Given the description of an element on the screen output the (x, y) to click on. 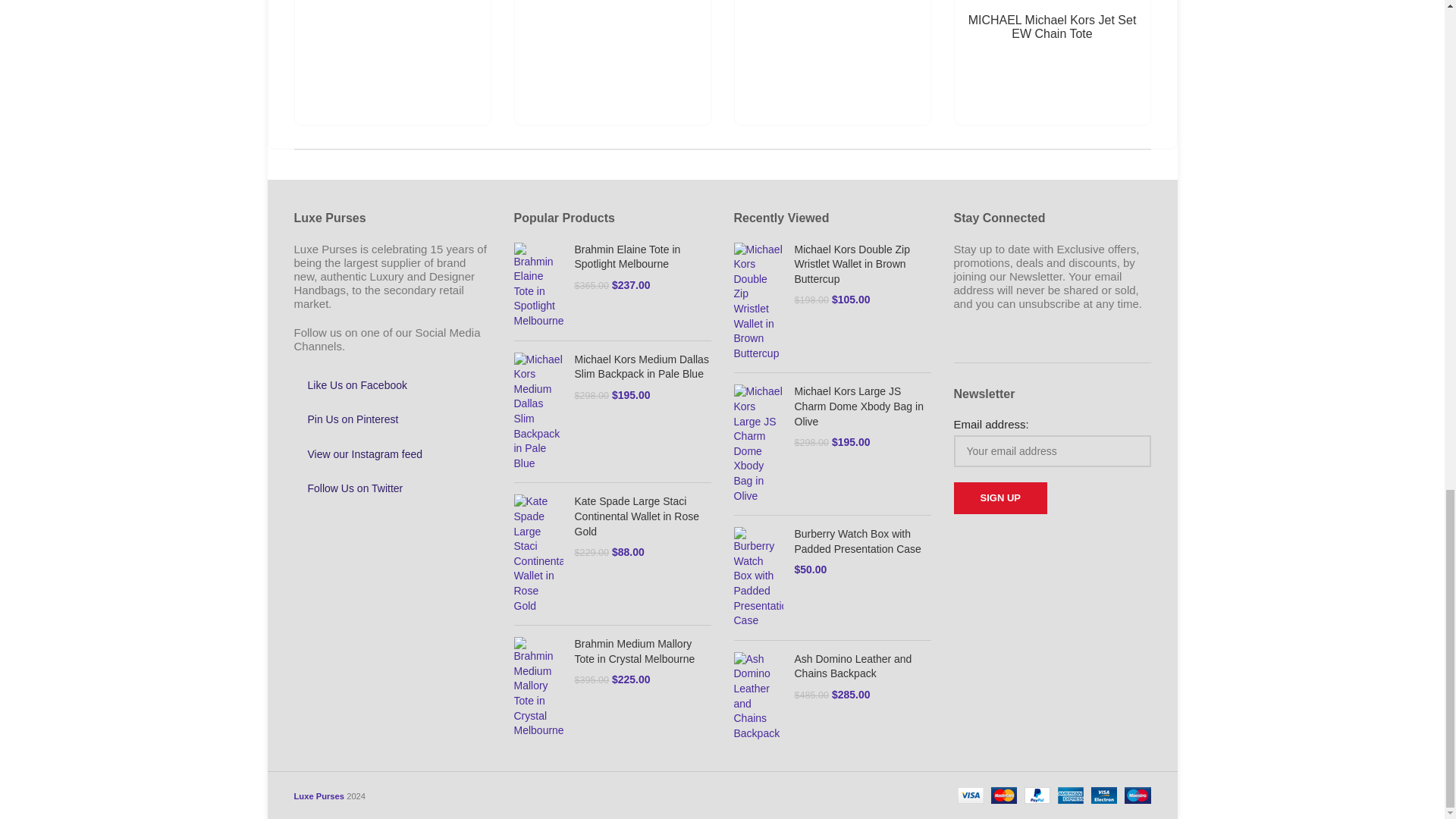
Sign up (999, 498)
Michael Kors Medium Dallas Slim Backpack in Pale Blue (643, 367)
Brahmin Elaine Tote in Spotlight Melbourne (643, 256)
